Given the description of an element on the screen output the (x, y) to click on. 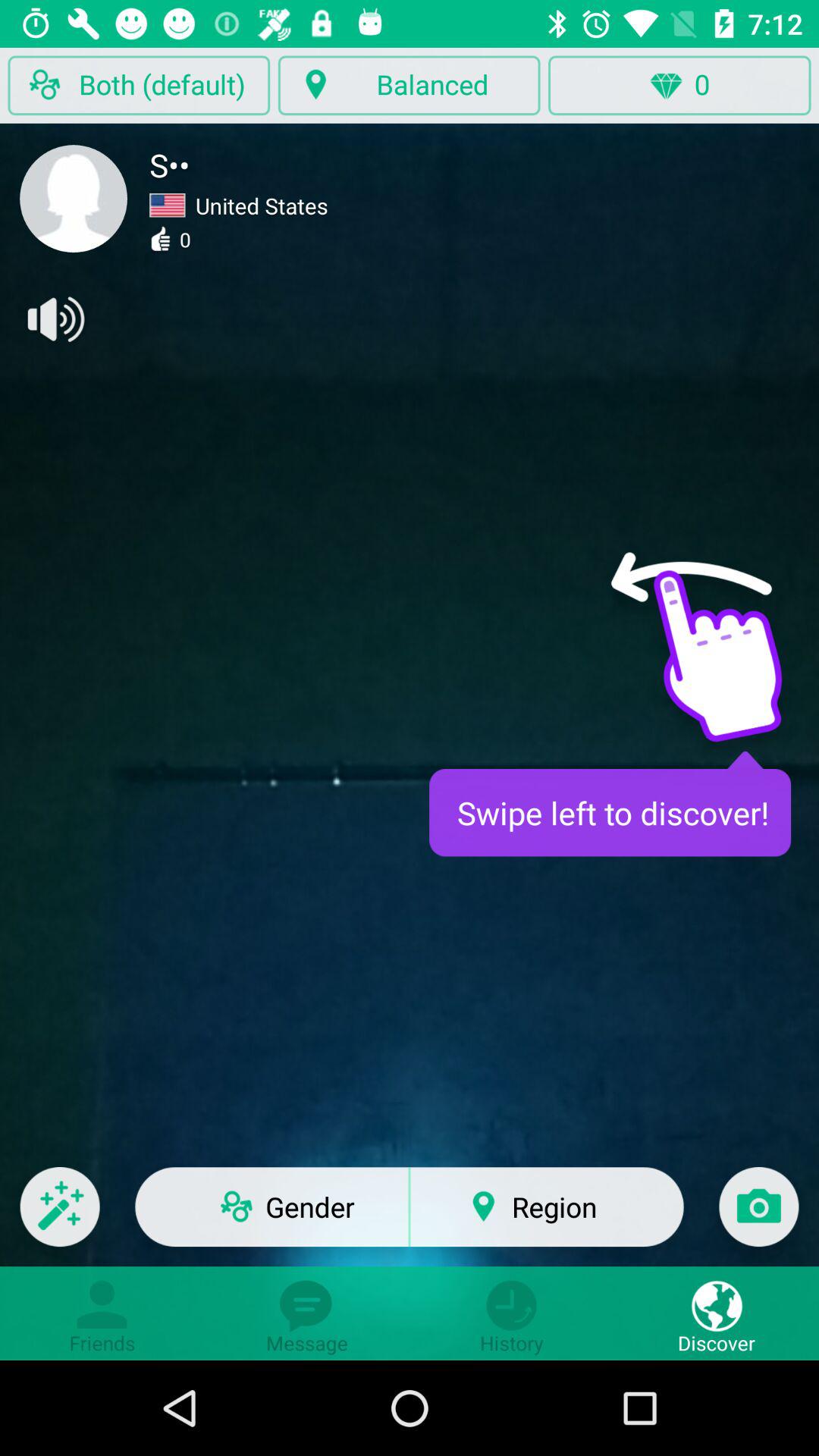
open profile pic (73, 198)
